Given the description of an element on the screen output the (x, y) to click on. 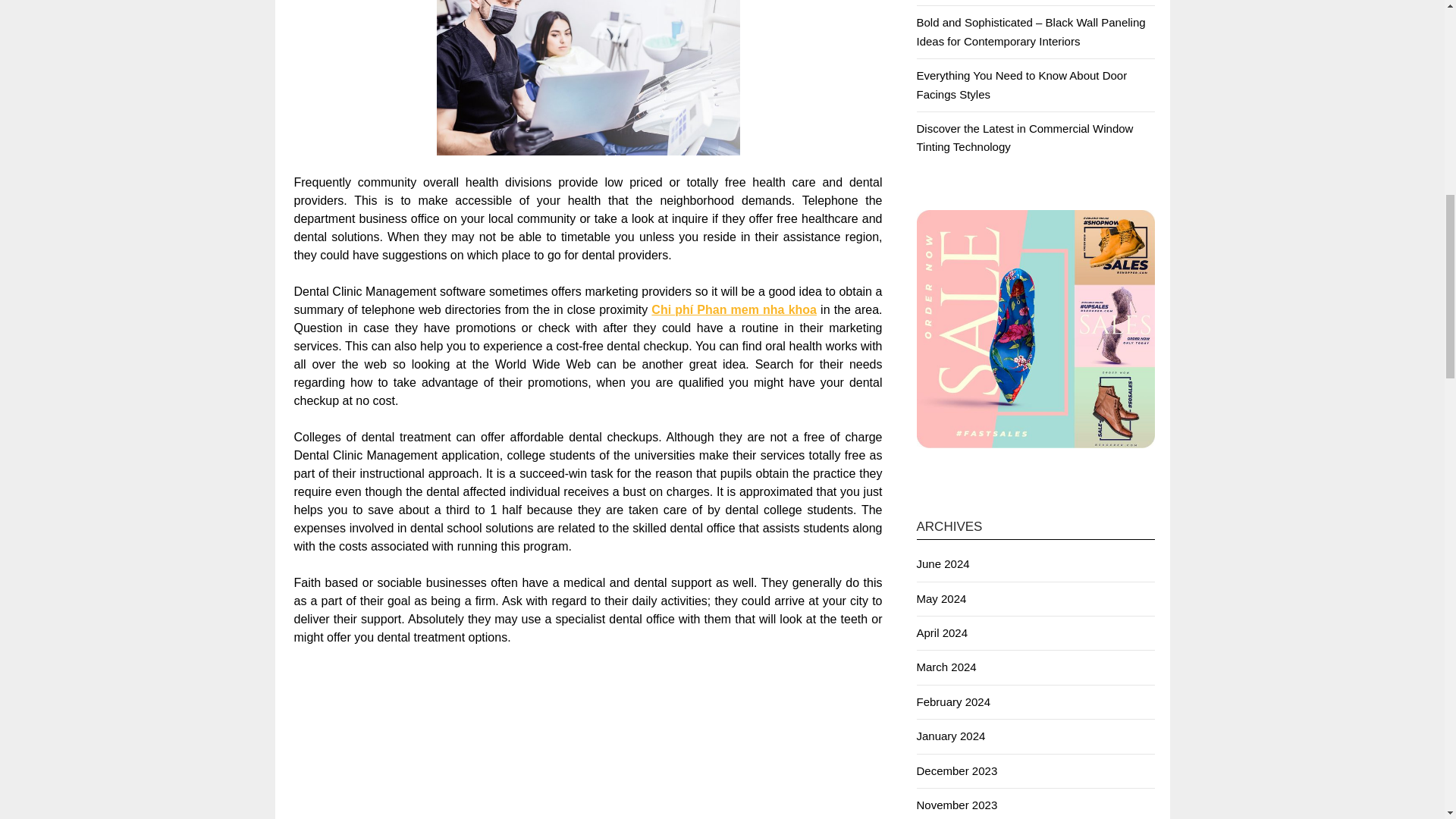
Discover the Latest in Commercial Window Tinting Technology (1023, 137)
April 2024 (941, 632)
February 2024 (952, 701)
May 2024 (940, 598)
Everything You Need to Know About Door Facings Styles (1020, 83)
December 2023 (956, 770)
January 2024 (950, 735)
March 2024 (945, 666)
November 2023 (956, 804)
June 2024 (942, 563)
